Given the description of an element on the screen output the (x, y) to click on. 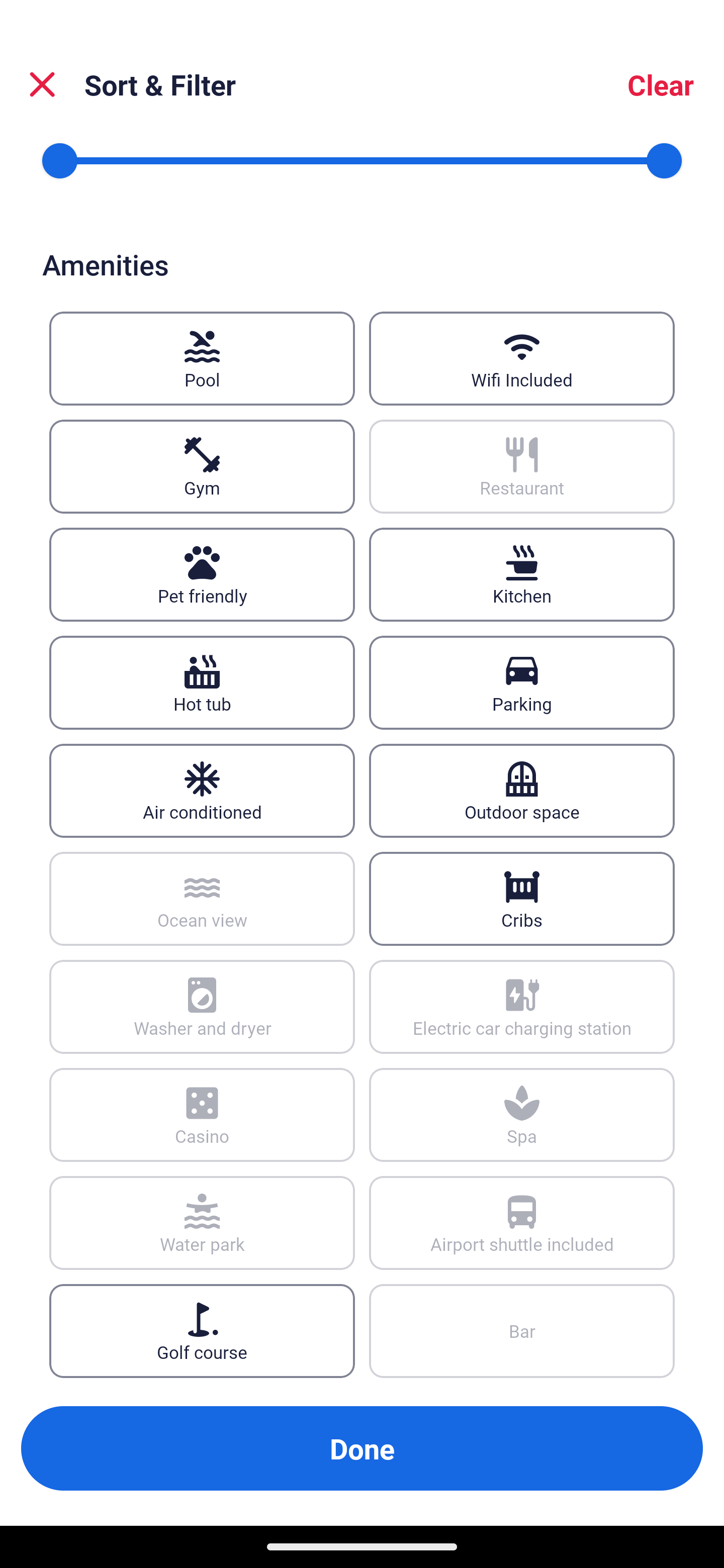
Close Sort and Filter (42, 84)
Clear (660, 84)
Pool (201, 359)
Wifi Included (521, 359)
Gym (201, 467)
Restaurant (521, 467)
Pet friendly (201, 574)
Kitchen (521, 574)
Hot tub (201, 682)
Parking (521, 682)
Air conditioned (201, 790)
Outdoor space (521, 790)
Ocean view (201, 898)
Cribs (521, 898)
Washer and dryer (201, 1006)
Electric car charging station (521, 1006)
Casino (201, 1114)
Spa (521, 1114)
Water park (201, 1223)
Airport shuttle included (521, 1223)
Golf course (201, 1331)
Bar (521, 1331)
Apply and close Sort and Filter Done (361, 1448)
